Given the description of an element on the screen output the (x, y) to click on. 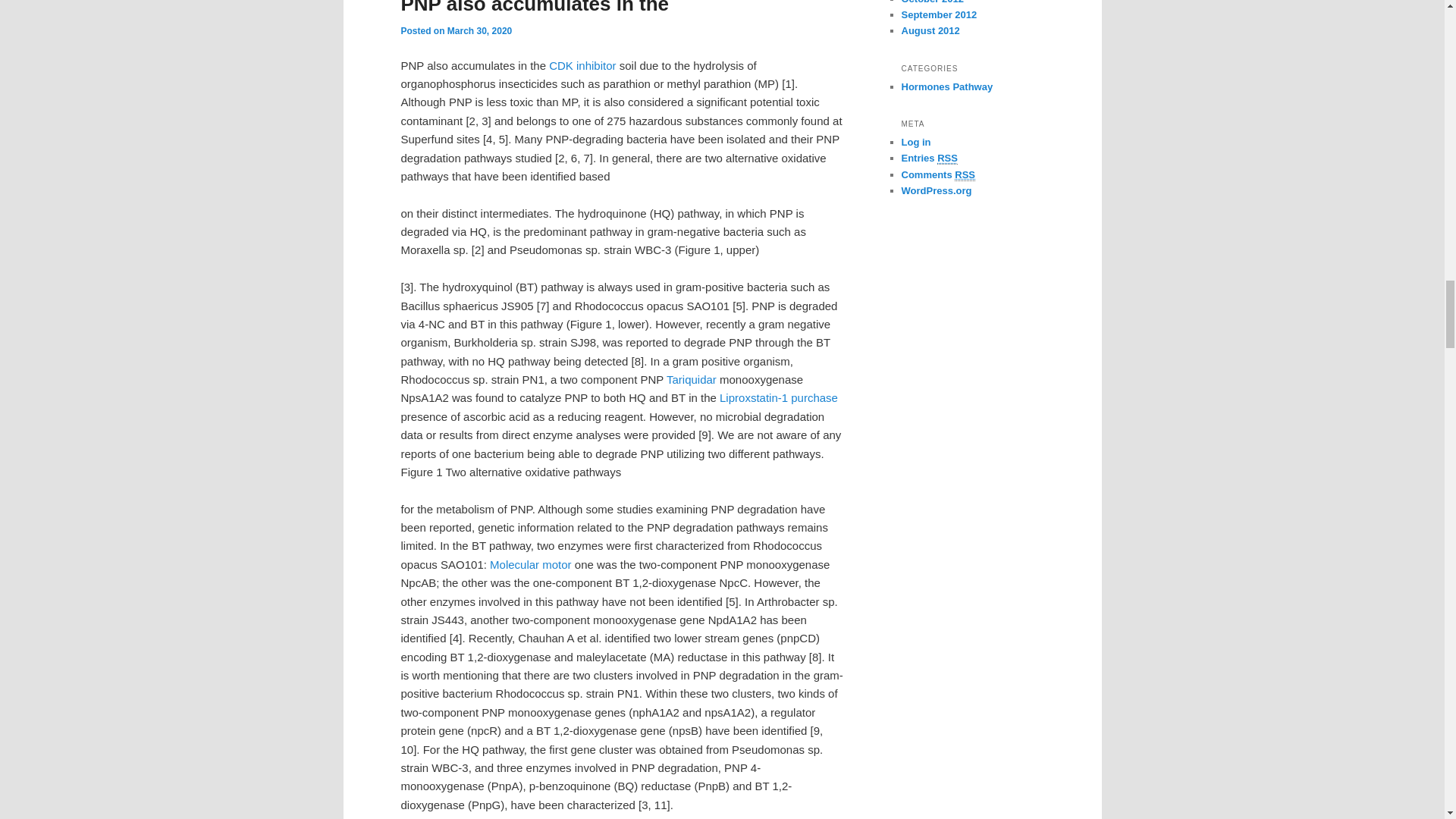
Permalink to PNP also accumulates in the  (534, 7)
PNP also accumulates in the (534, 7)
Posted on (423, 30)
